Given the description of an element on the screen output the (x, y) to click on. 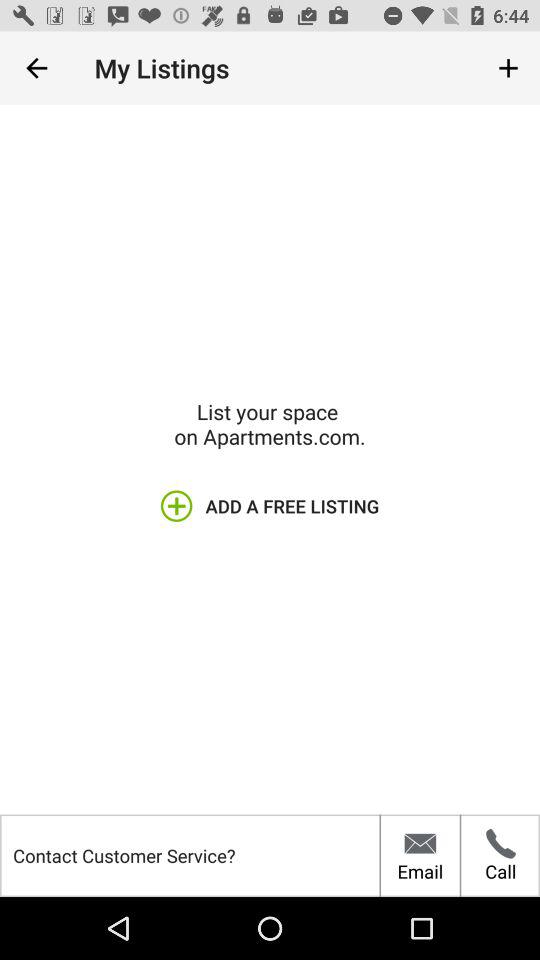
press add a free icon (269, 505)
